Given the description of an element on the screen output the (x, y) to click on. 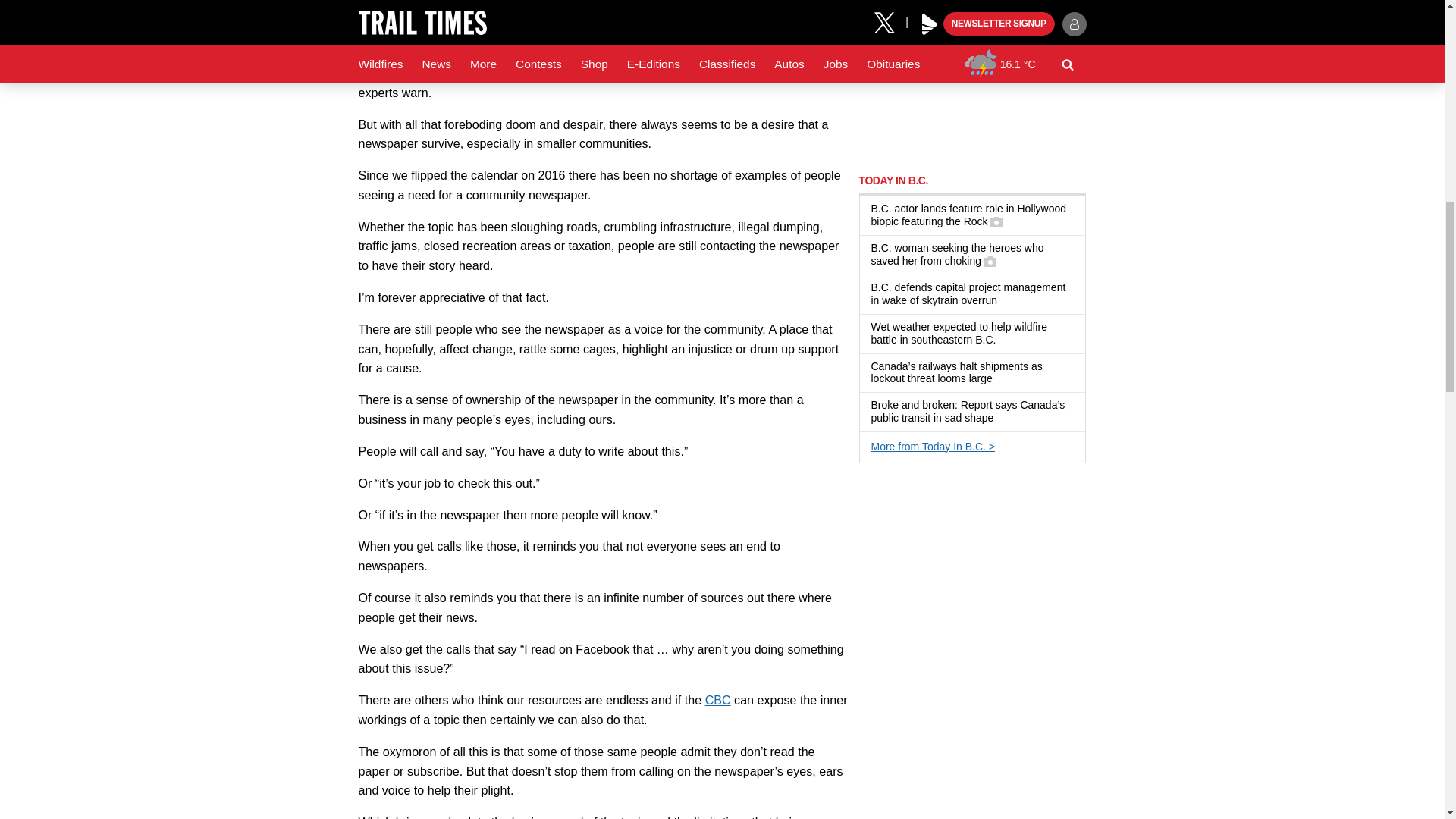
CBC (717, 699)
Has a gallery (996, 222)
Has a gallery (989, 261)
